Given the description of an element on the screen output the (x, y) to click on. 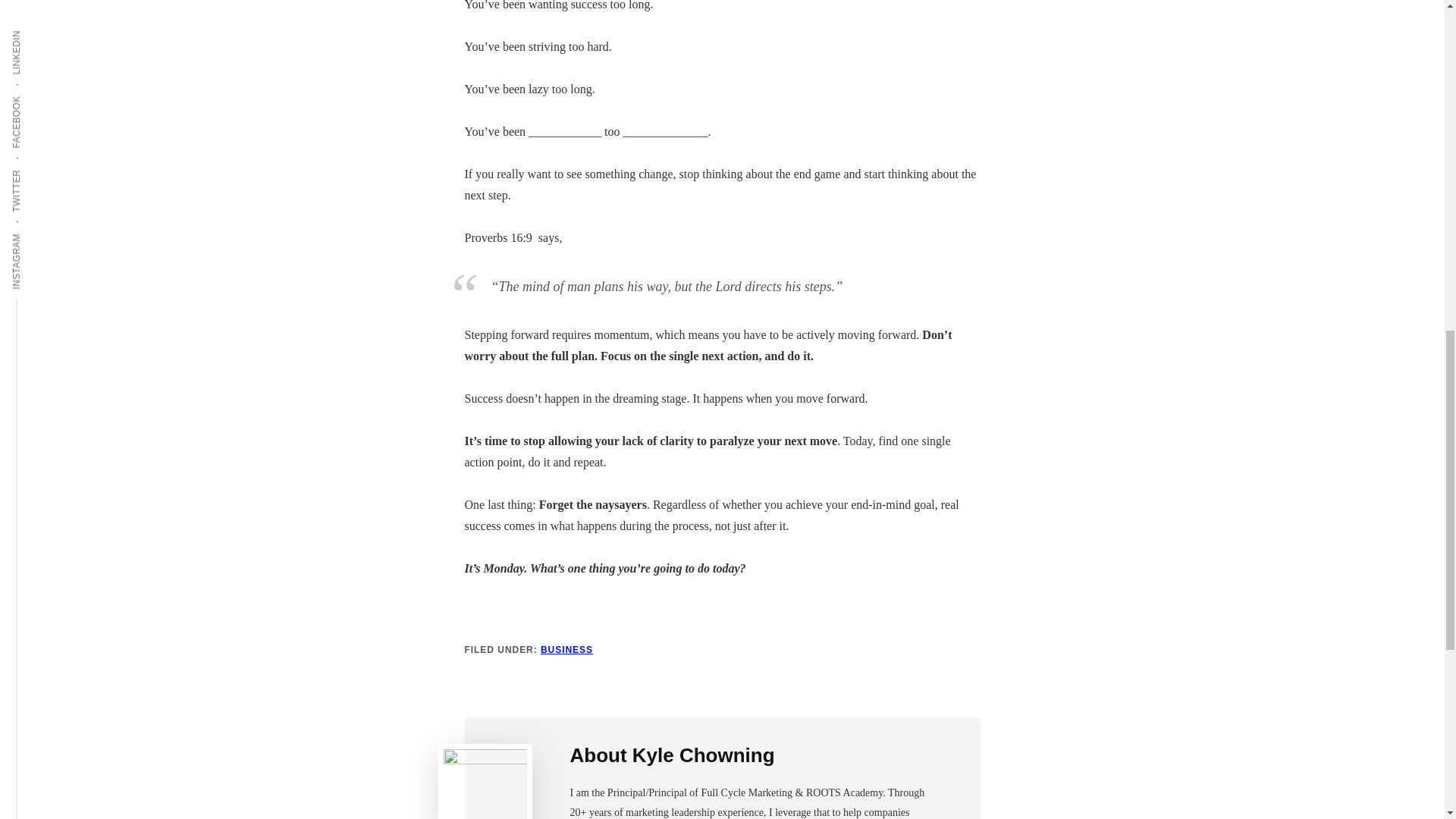
BUSINESS (566, 649)
